Given the description of an element on the screen output the (x, y) to click on. 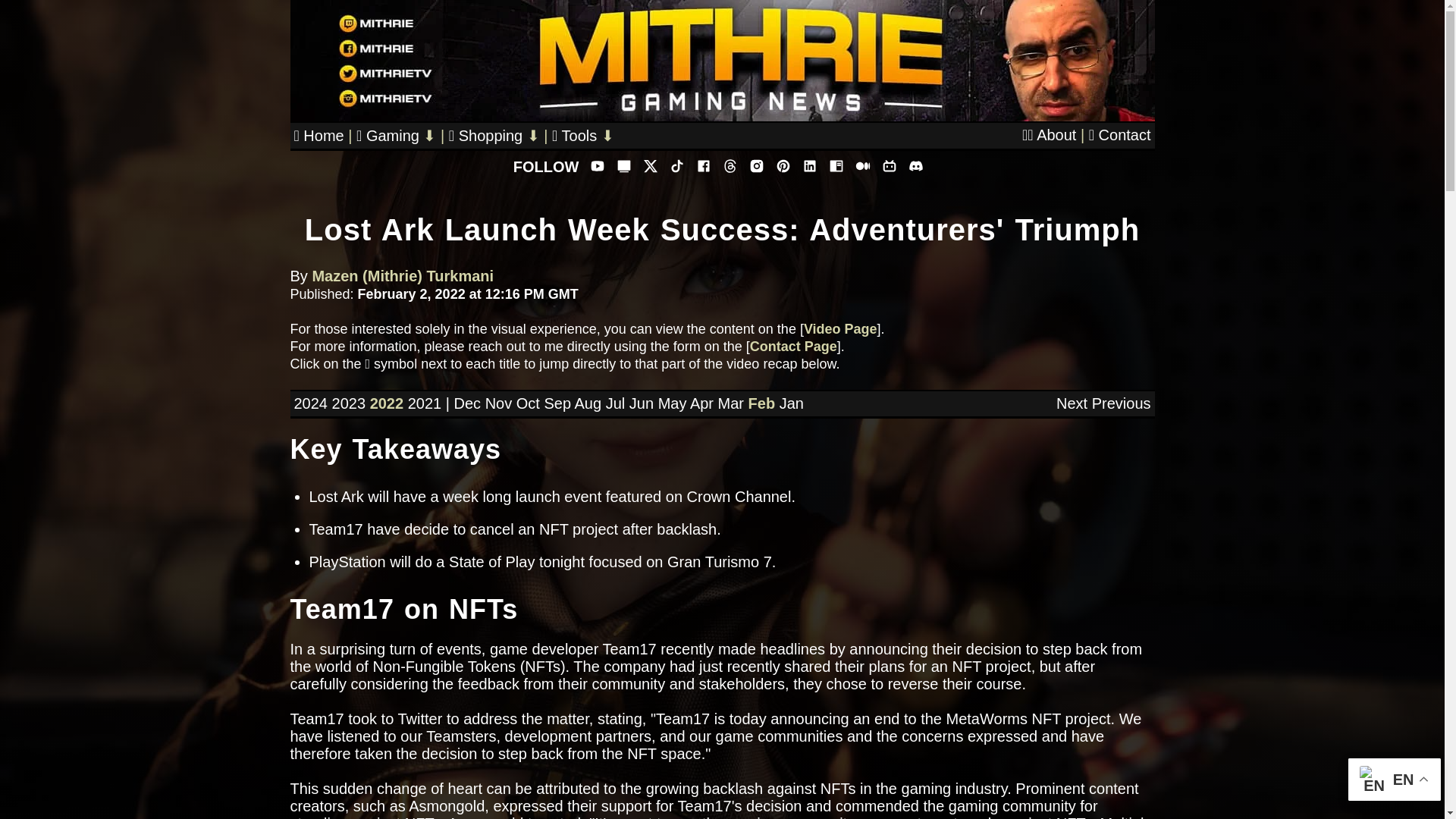
Dec (466, 402)
Video Page (840, 328)
Contact Page (793, 346)
2024 (311, 402)
2021 (424, 402)
2023 (348, 402)
